Given the description of an element on the screen output the (x, y) to click on. 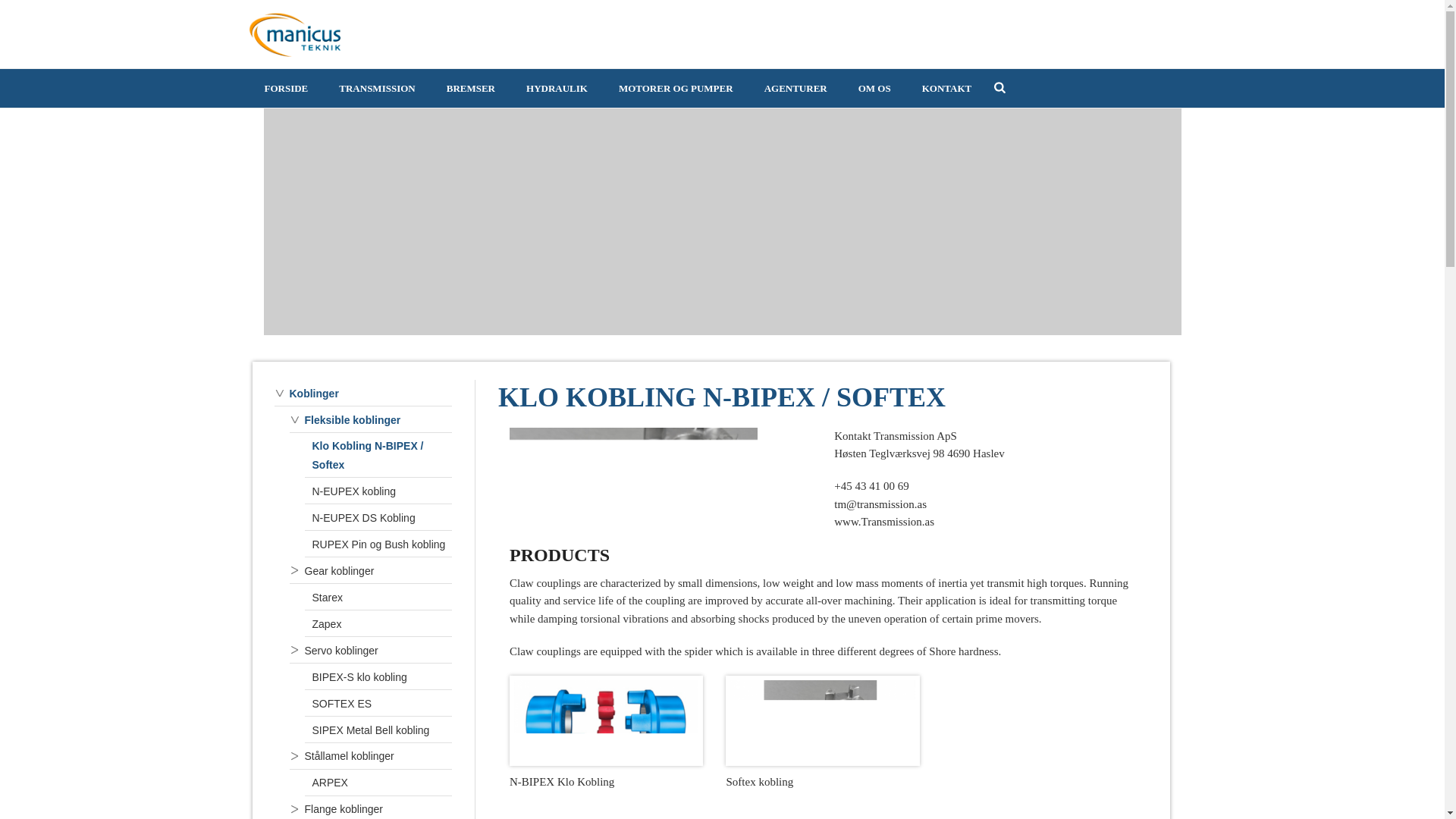
softex-tors-1 (633, 481)
OM OS (874, 87)
BREMSER (470, 87)
AGENTURER (796, 87)
MOTORER OG PUMPER (676, 87)
n-bipex-klo-kobling (605, 720)
KONTAKT (947, 87)
FORSIDE (285, 87)
FORSIDE (285, 87)
TRANSMISSION (376, 87)
